Given the description of an element on the screen output the (x, y) to click on. 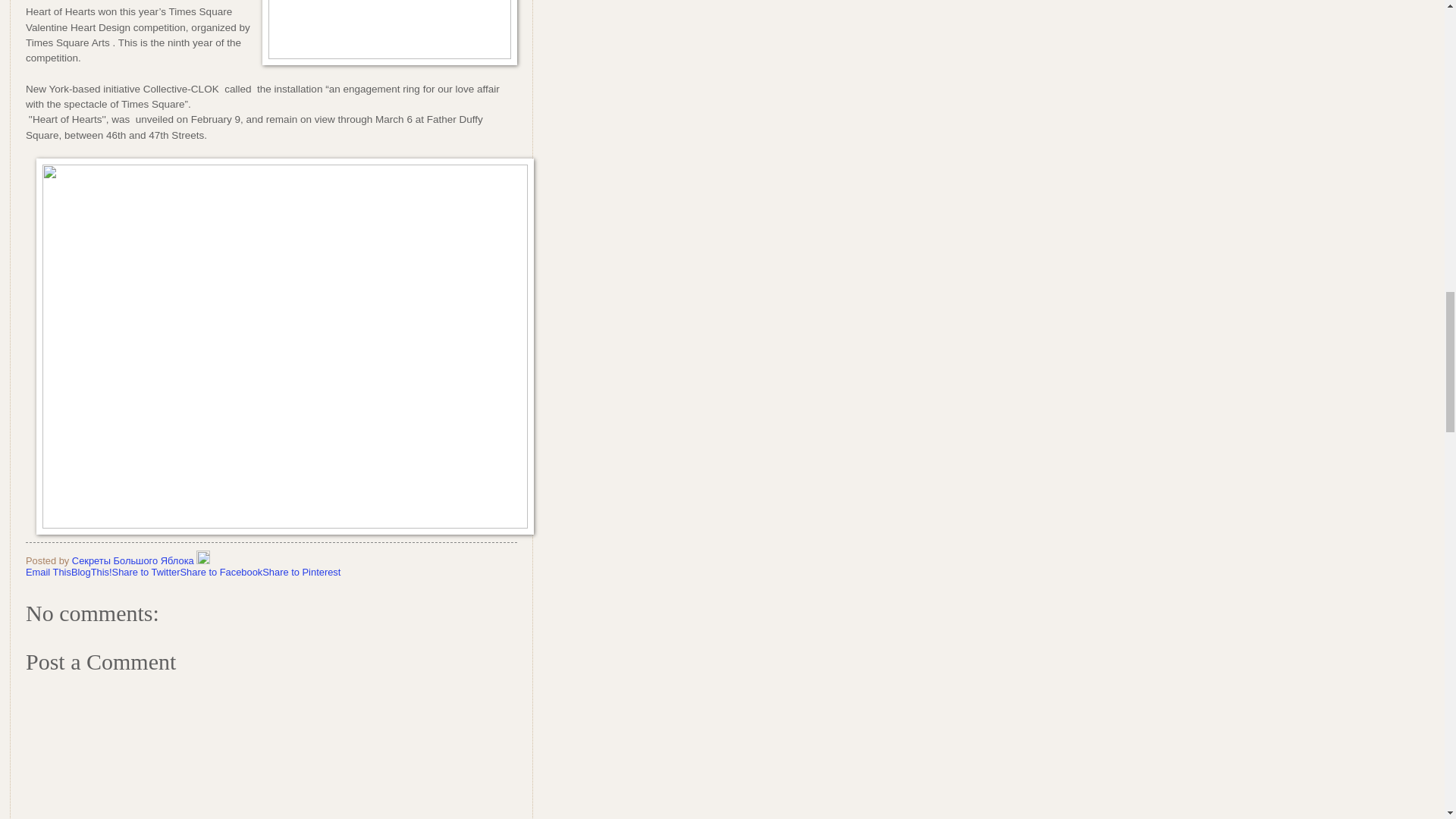
Share to Pinterest (301, 572)
Email This (48, 572)
Share to Twitter (146, 572)
Share to Facebook (220, 572)
Share to Twitter (146, 572)
Edit Post (202, 560)
BlogThis! (91, 572)
Share to Pinterest (301, 572)
Share to Facebook (220, 572)
Email This (48, 572)
BlogThis! (91, 572)
author profile (133, 560)
